Given the description of an element on the screen output the (x, y) to click on. 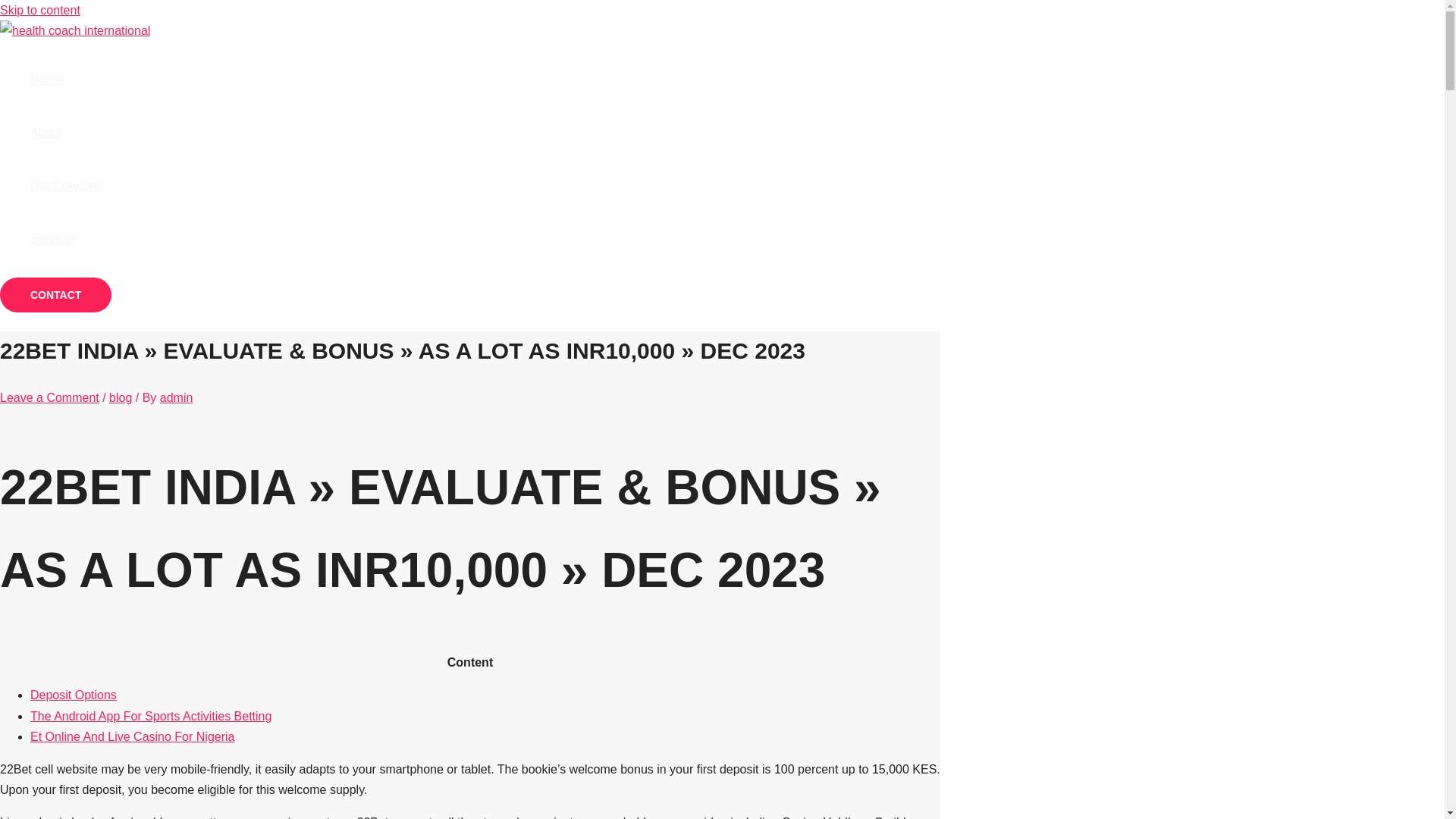
admin (176, 397)
Et Online And Live Casino For Nigeria (132, 736)
Deposit Options (73, 694)
Skip to content (40, 10)
Our Coaches (65, 185)
Home (65, 79)
Skip to content (40, 10)
blog (120, 397)
Services (65, 238)
View all posts by admin (176, 397)
